Given the description of an element on the screen output the (x, y) to click on. 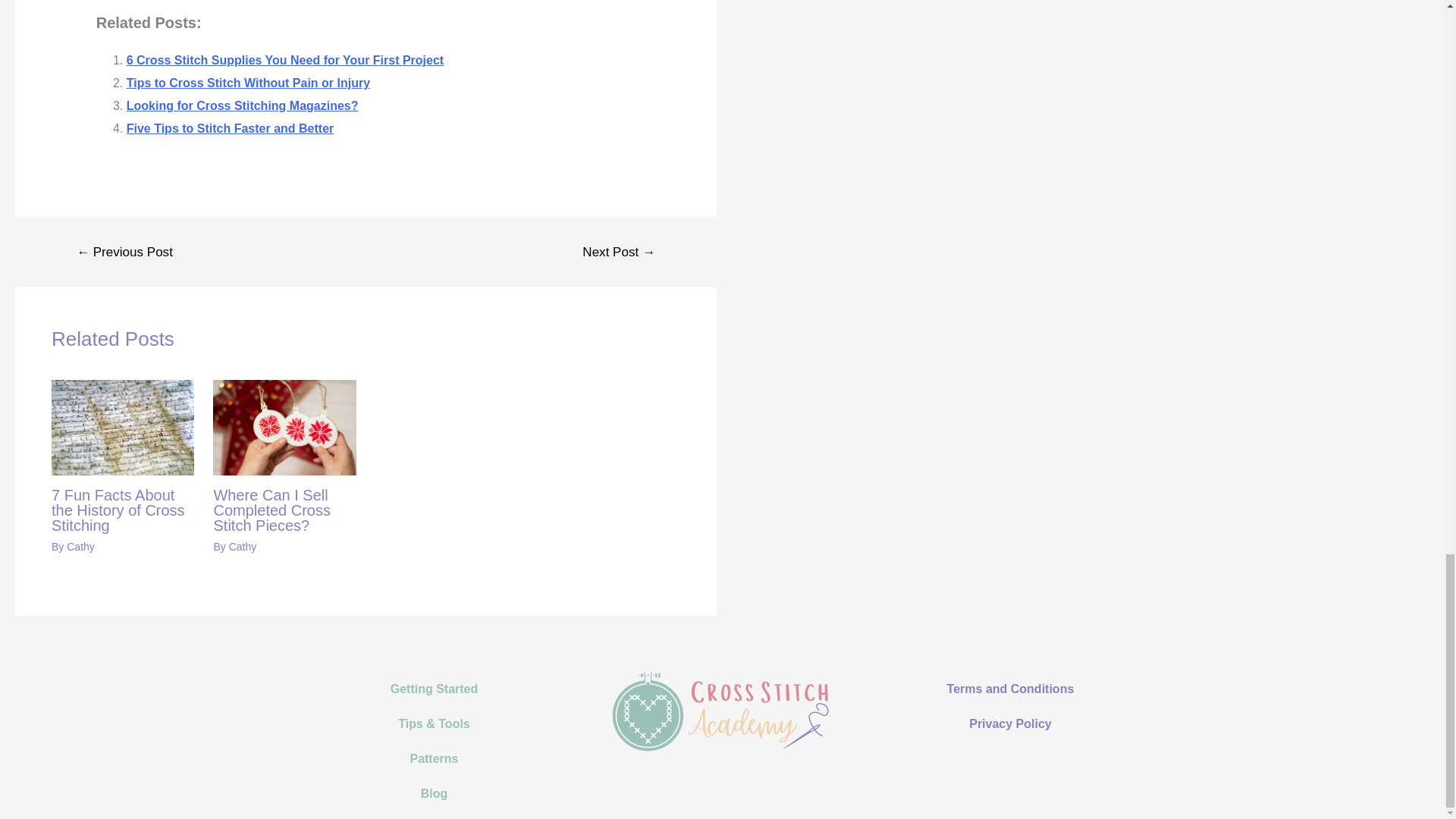
Where Can I Sell Completed Cross Stitch Pieces? (271, 509)
Looking for Cross Stitching Magazines? (242, 105)
Cathy (80, 546)
Looking for Cross Stitching Magazines? (242, 105)
7 Fun Facts About the History of Cross Stitching (117, 509)
View all posts by Cathy (242, 546)
Cathy (242, 546)
Five Tips to Stitch Faster and Better (230, 128)
6 Cross Stitch Supplies You Need for Your First Project (285, 60)
Tips to Cross Stitch Without Pain or Injury (247, 82)
Tips to Cross Stitch Without Pain or Injury (247, 82)
6 Cross Stitch Supplies You Need for Your First Project (285, 60)
Five Tips to Stitch Faster and Better (230, 128)
View all posts by Cathy (80, 546)
